Given the description of an element on the screen output the (x, y) to click on. 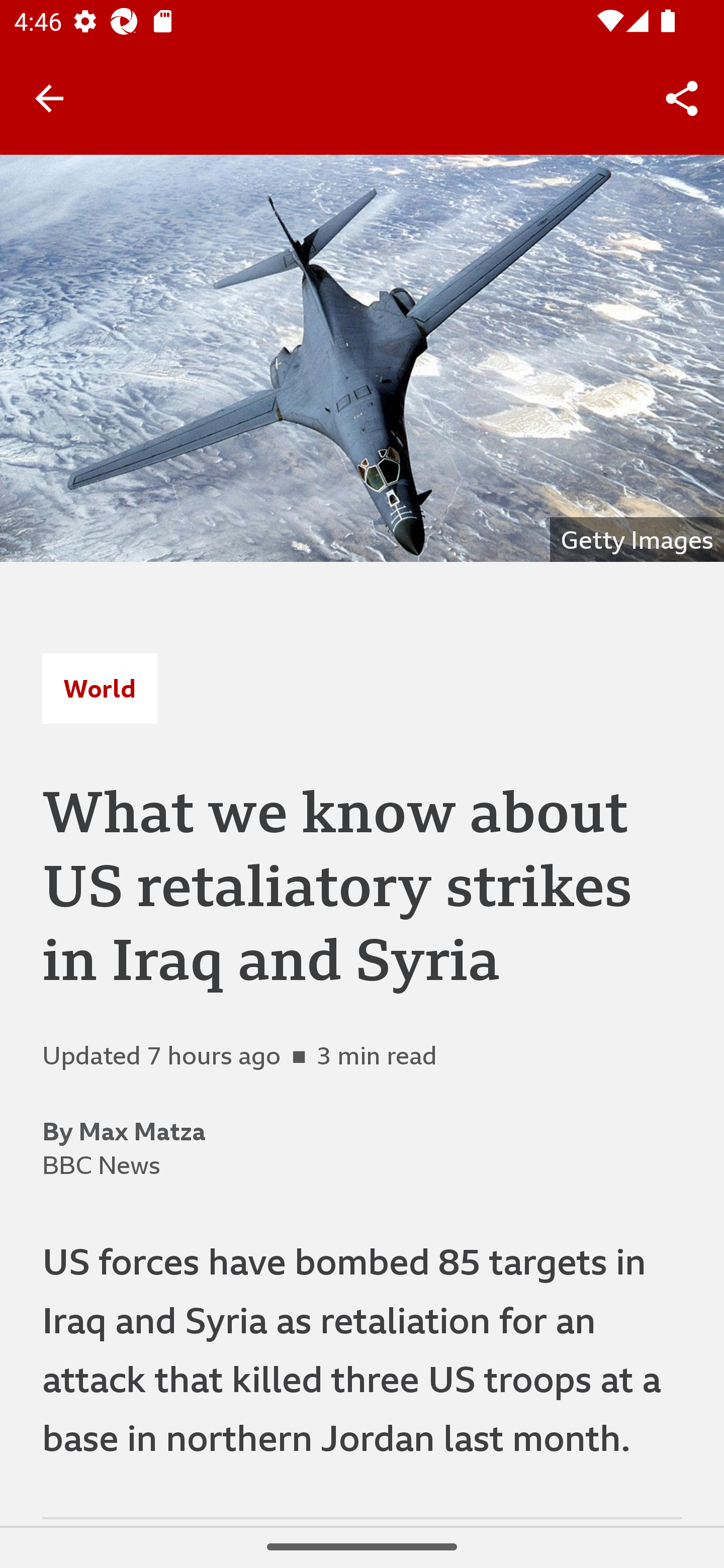
Back (49, 97)
Share (681, 98)
World (99, 688)
